Given the description of an element on the screen output the (x, y) to click on. 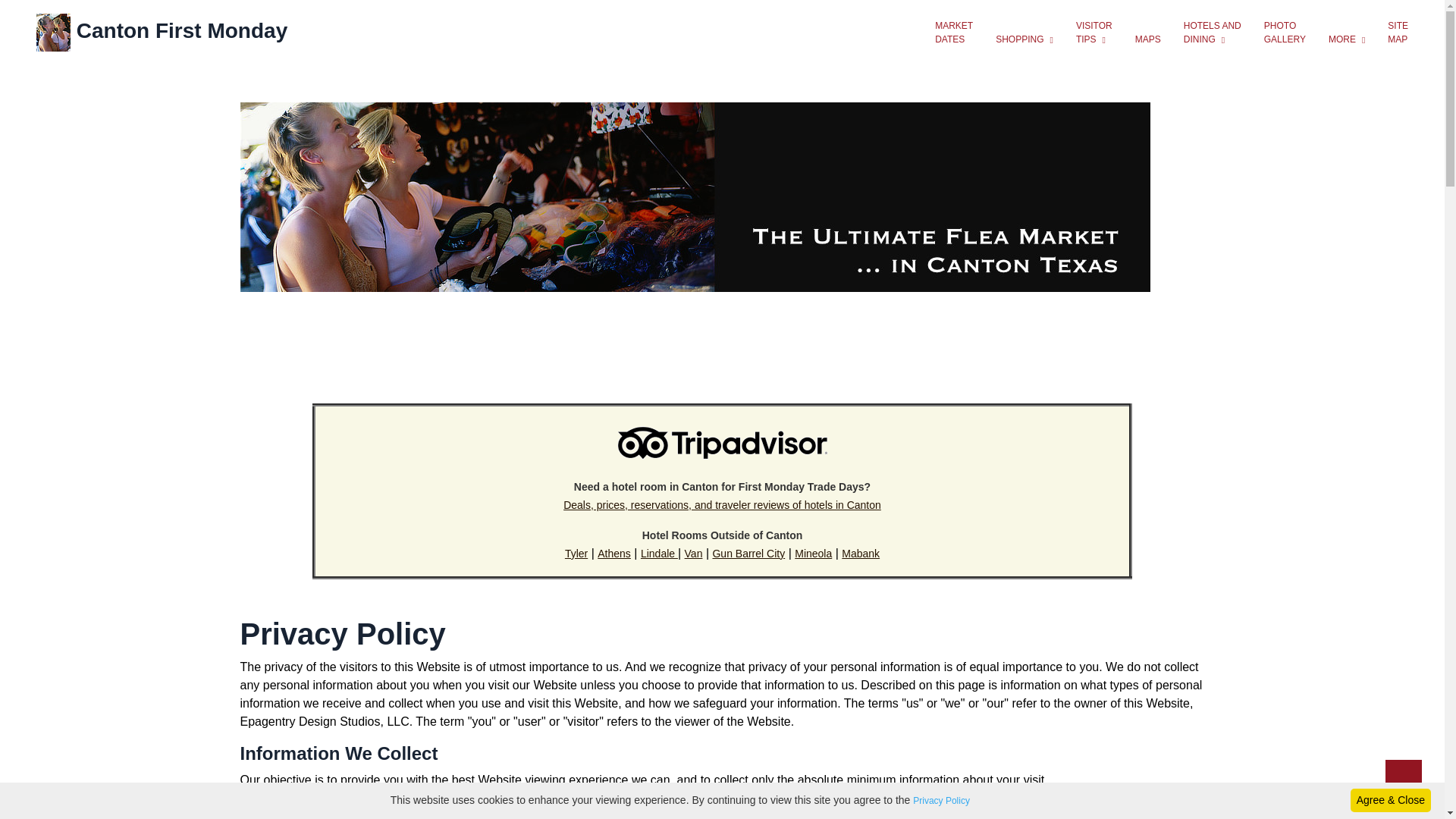
Canton First Monday (161, 32)
Tyler (576, 553)
Advertisement (722, 345)
Lindale (659, 553)
Van (693, 553)
Athens (613, 553)
